Given the description of an element on the screen output the (x, y) to click on. 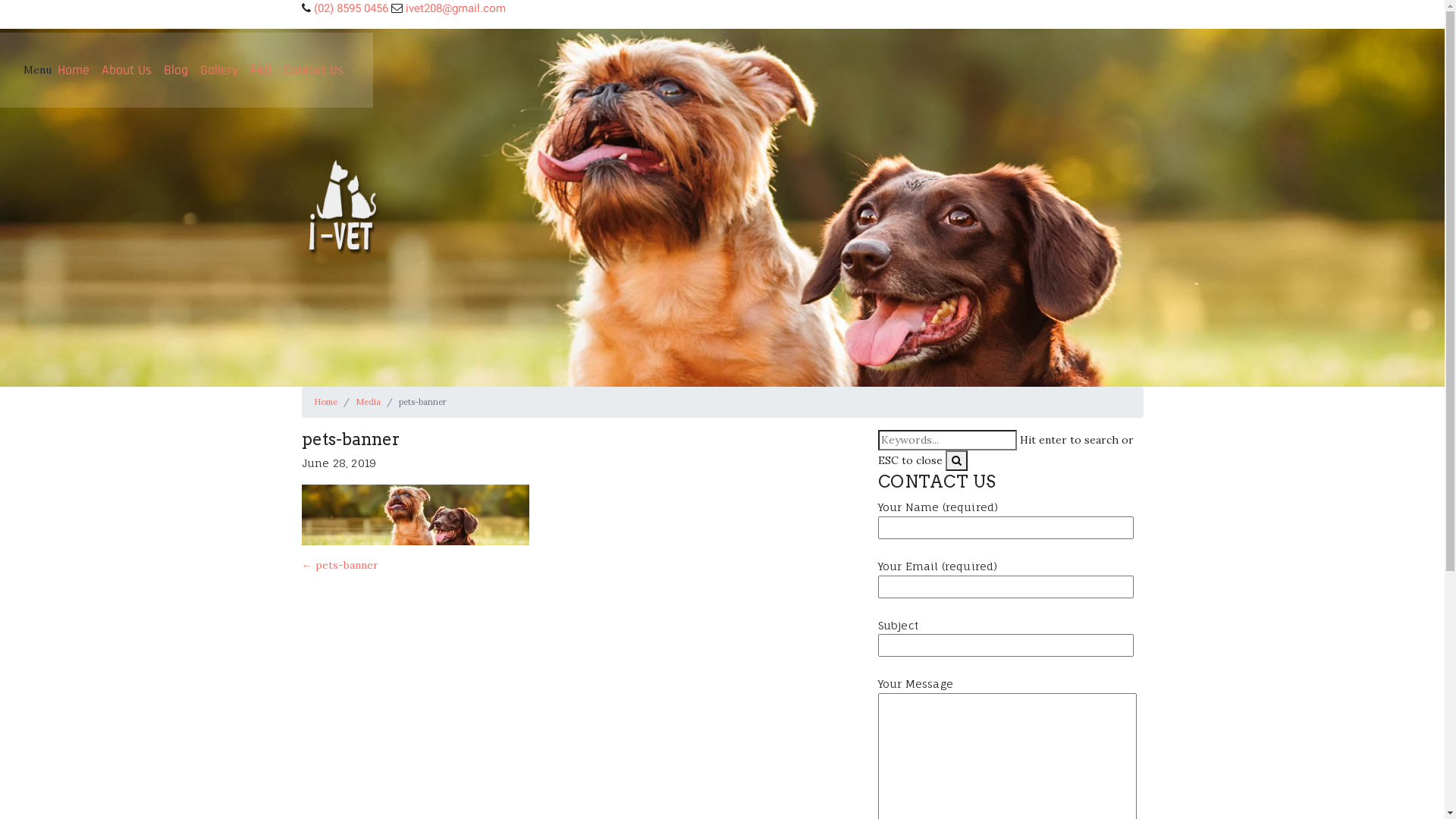
Home Element type: text (325, 401)
Contact Us Element type: text (313, 69)
Gallery Element type: text (219, 69)
Blog Element type: text (175, 69)
About Us Element type: text (126, 69)
ivet208@gmail.com Element type: text (454, 8)
FAQ Element type: text (260, 69)
(02) 8595 0456 Element type: text (350, 8)
Home Element type: text (73, 69)
Media Element type: text (366, 401)
